Given the description of an element on the screen output the (x, y) to click on. 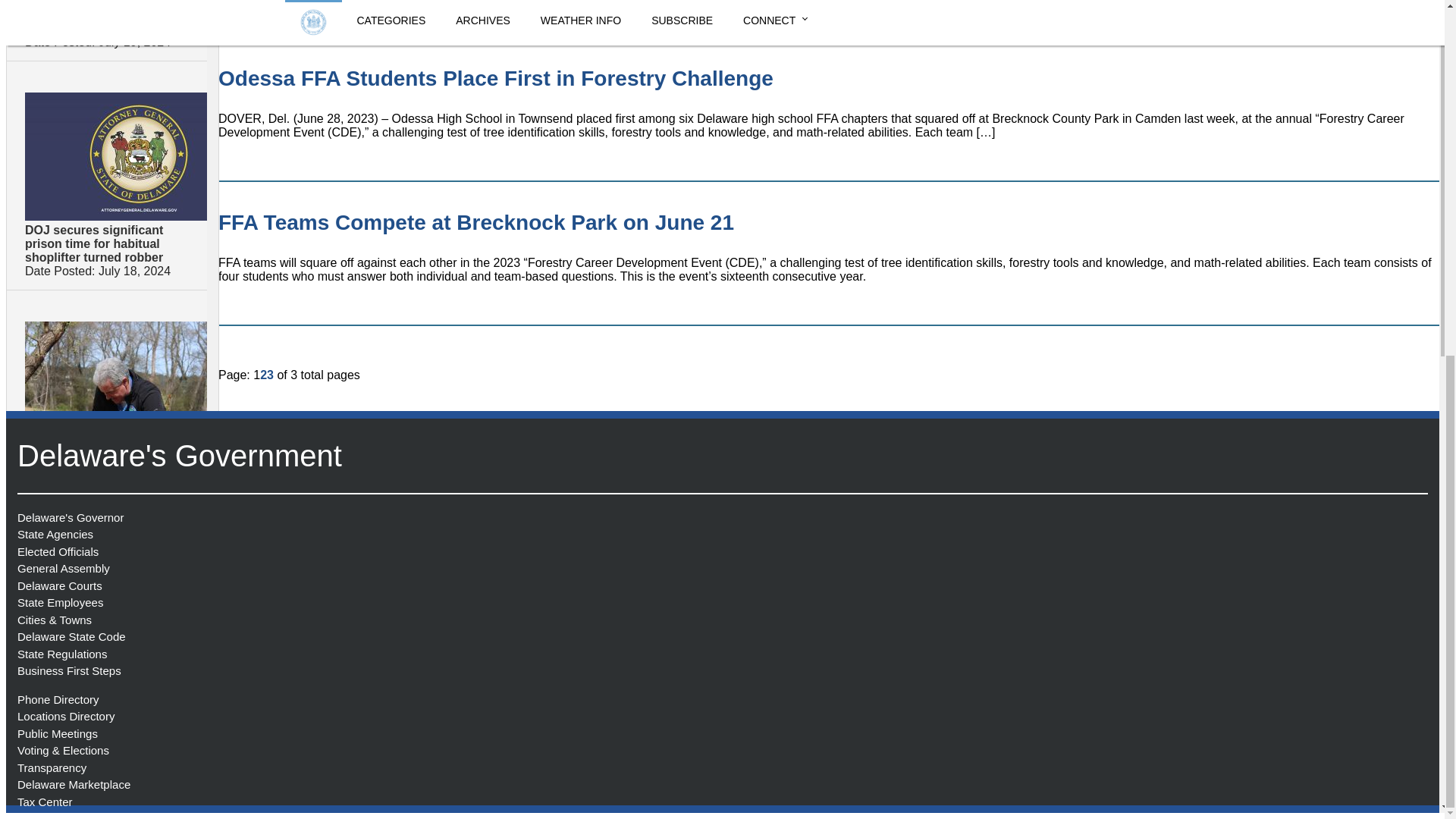
Fire Commission Releases New Updates for EMS Protocols (101, 17)
Application Period for Tree-Planting Project Funding Open (104, 572)
